Given the description of an element on the screen output the (x, y) to click on. 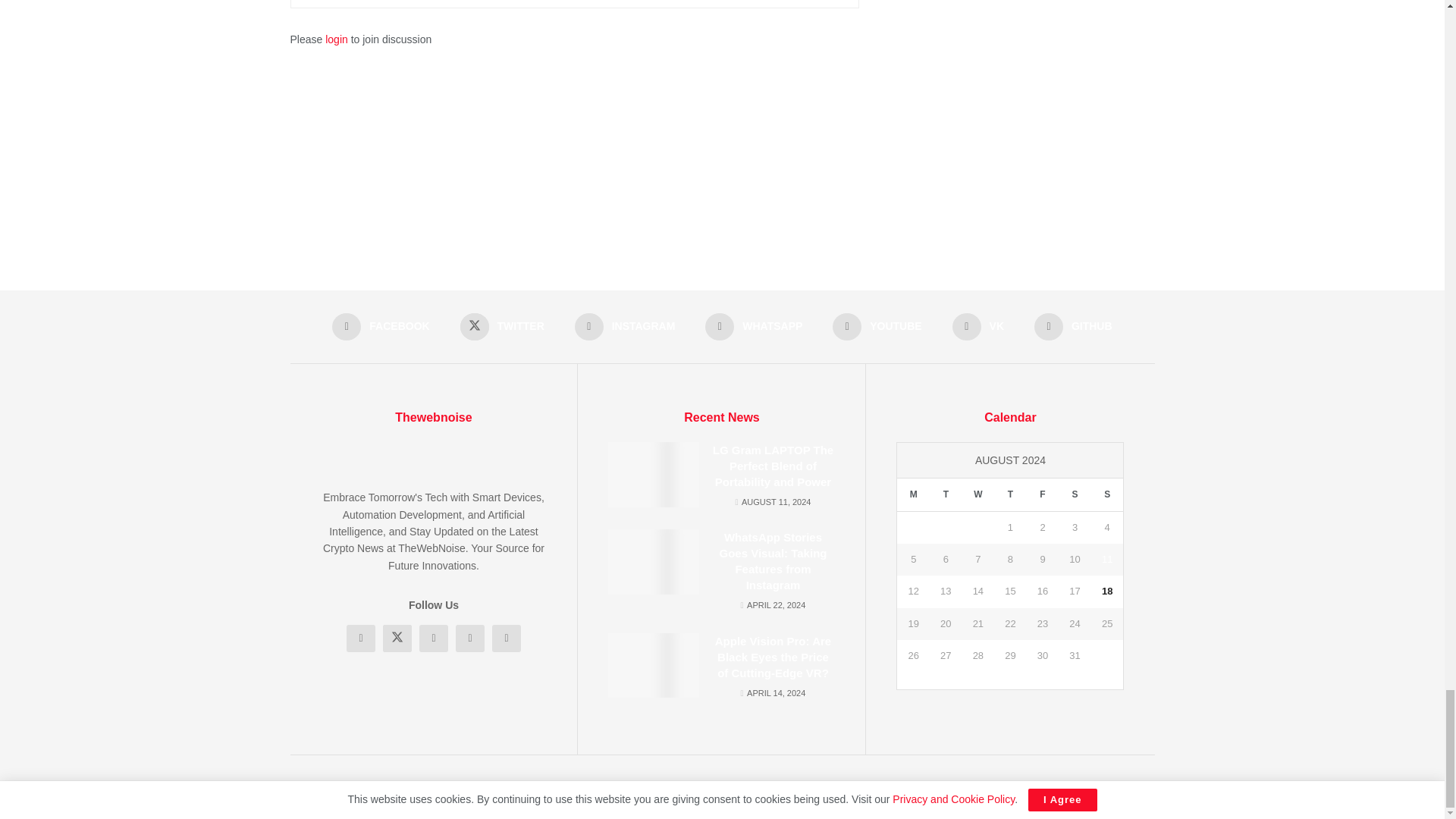
Tuesday (946, 494)
Wednesday (978, 494)
Thursday (1010, 494)
Friday (1042, 494)
Monday (913, 494)
Saturday (1074, 494)
